Given the description of an element on the screen output the (x, y) to click on. 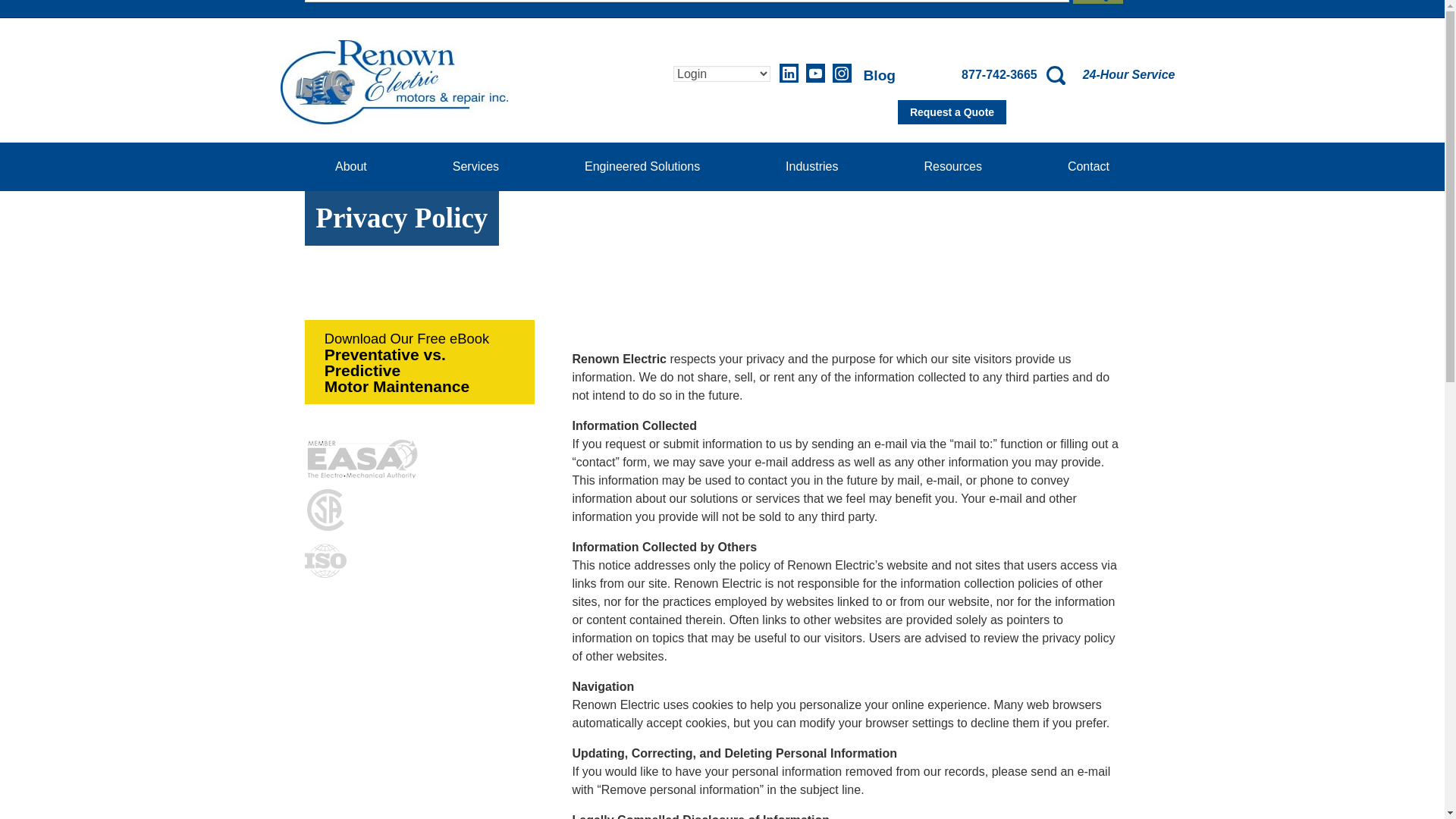
Search (1097, 2)
Blog (874, 74)
Request a Quote (952, 111)
877-742-3665 (991, 74)
EASA (362, 458)
24-Hour Service (1128, 74)
YouTube (815, 73)
ISO (325, 560)
Renown Electric (394, 82)
